Given the description of an element on the screen output the (x, y) to click on. 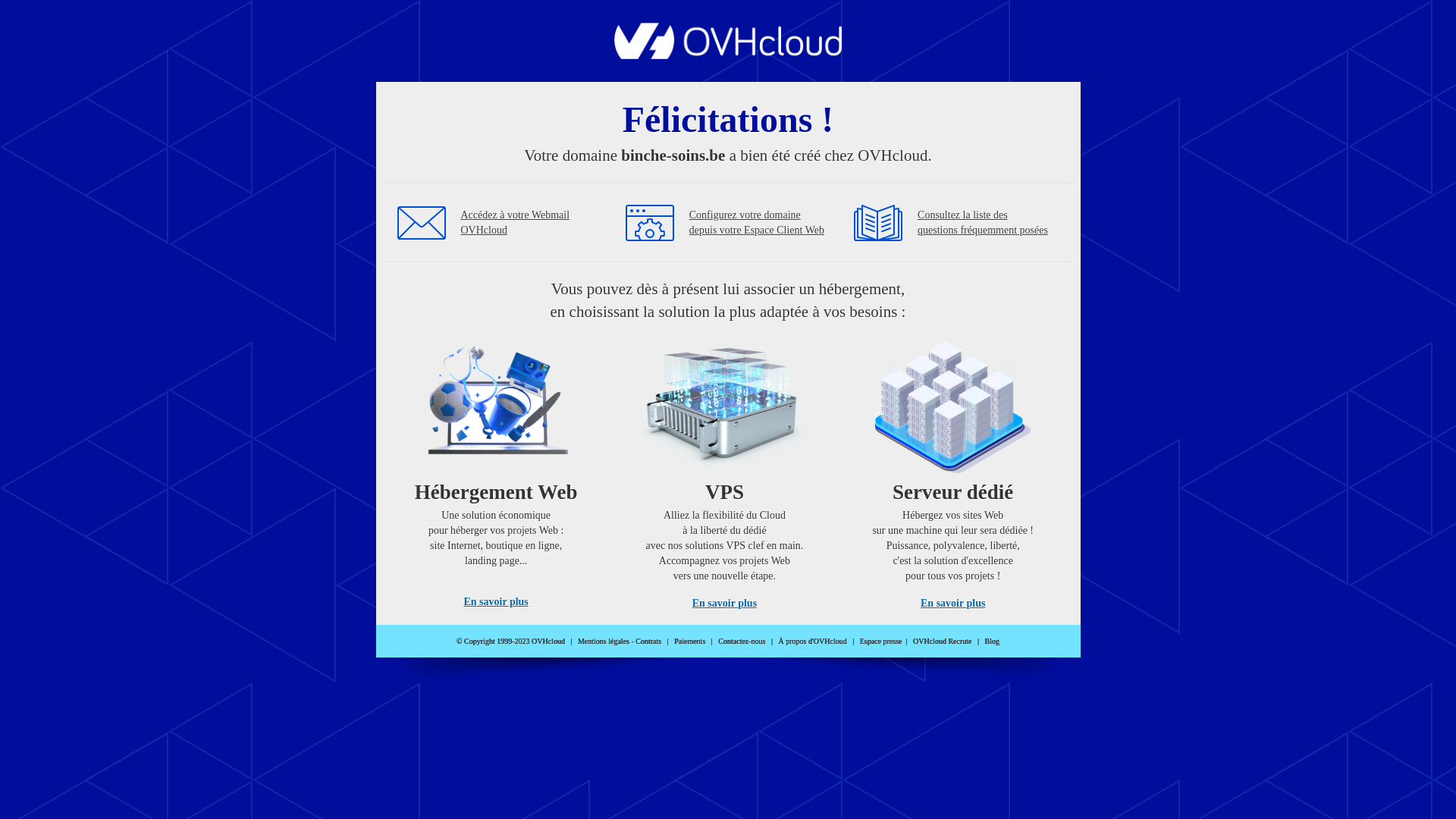
Espace presse Element type: text (880, 641)
OVHcloud Element type: hover (727, 54)
En savoir plus Element type: text (724, 602)
Contactez-nous Element type: text (741, 641)
OVHcloud Recrute Element type: text (942, 641)
En savoir plus Element type: text (495, 601)
Configurez votre domaine
depuis votre Espace Client Web Element type: text (756, 222)
Paiements Element type: text (689, 641)
En savoir plus Element type: text (952, 602)
Blog Element type: text (992, 641)
VPS Element type: hover (724, 469)
